Given the description of an element on the screen output the (x, y) to click on. 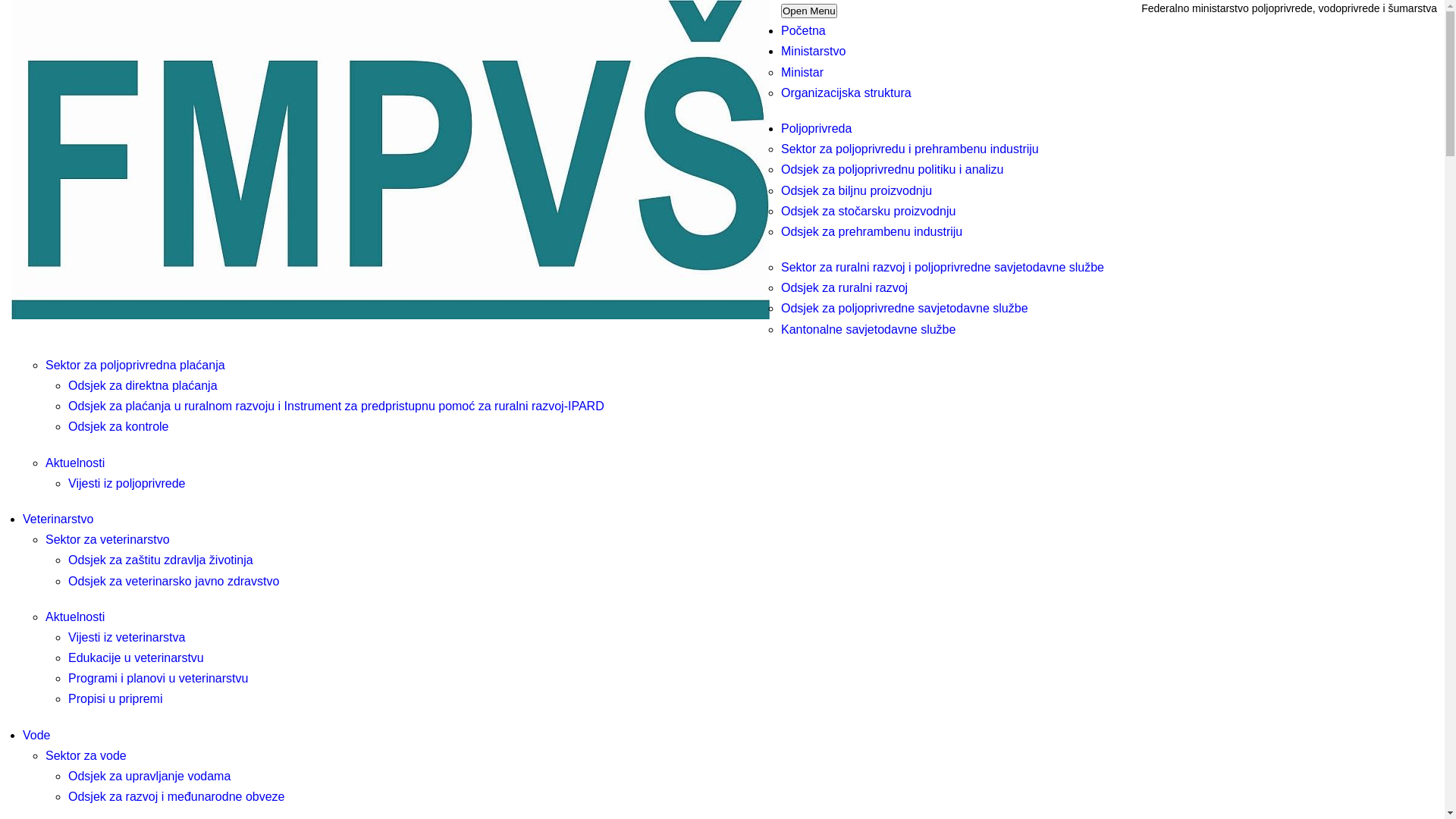
Veterinarstvo Element type: text (57, 518)
Odsjek za biljnu proizvodnju Element type: text (856, 189)
Odsjek za veterinarsko javno zdravstvo Element type: text (173, 580)
Organizacijska struktura Element type: text (846, 92)
Odsjek za upravljanje vodama Element type: text (149, 775)
Odsjek za poljoprivrednu politiku i analizu Element type: text (892, 169)
Propisi u pripremi Element type: text (115, 698)
Vode Element type: text (36, 734)
Vijesti iz veterinarstva Element type: text (126, 636)
Ministarstvo Element type: text (813, 50)
Odsjek za ruralni razvoj Element type: text (844, 287)
Sektor za veterinarstvo Element type: text (107, 539)
Odsjek za prehrambenu industriju Element type: text (871, 231)
Open Menu Element type: text (809, 10)
Vijesti iz poljoprivrede Element type: text (126, 482)
Edukacije u veterinarstvu Element type: text (135, 657)
Aktuelnosti Element type: text (74, 616)
Poljoprivreda Element type: text (816, 128)
Sektor za poljoprivredu i prehrambenu industriju Element type: text (909, 148)
Aktuelnosti Element type: text (74, 462)
Sektor za vode Element type: text (85, 755)
Programi i planovi u veterinarstvu Element type: text (157, 677)
Ministar Element type: text (802, 71)
Odsjek za kontrole  Element type: text (120, 426)
